Given the description of an element on the screen output the (x, y) to click on. 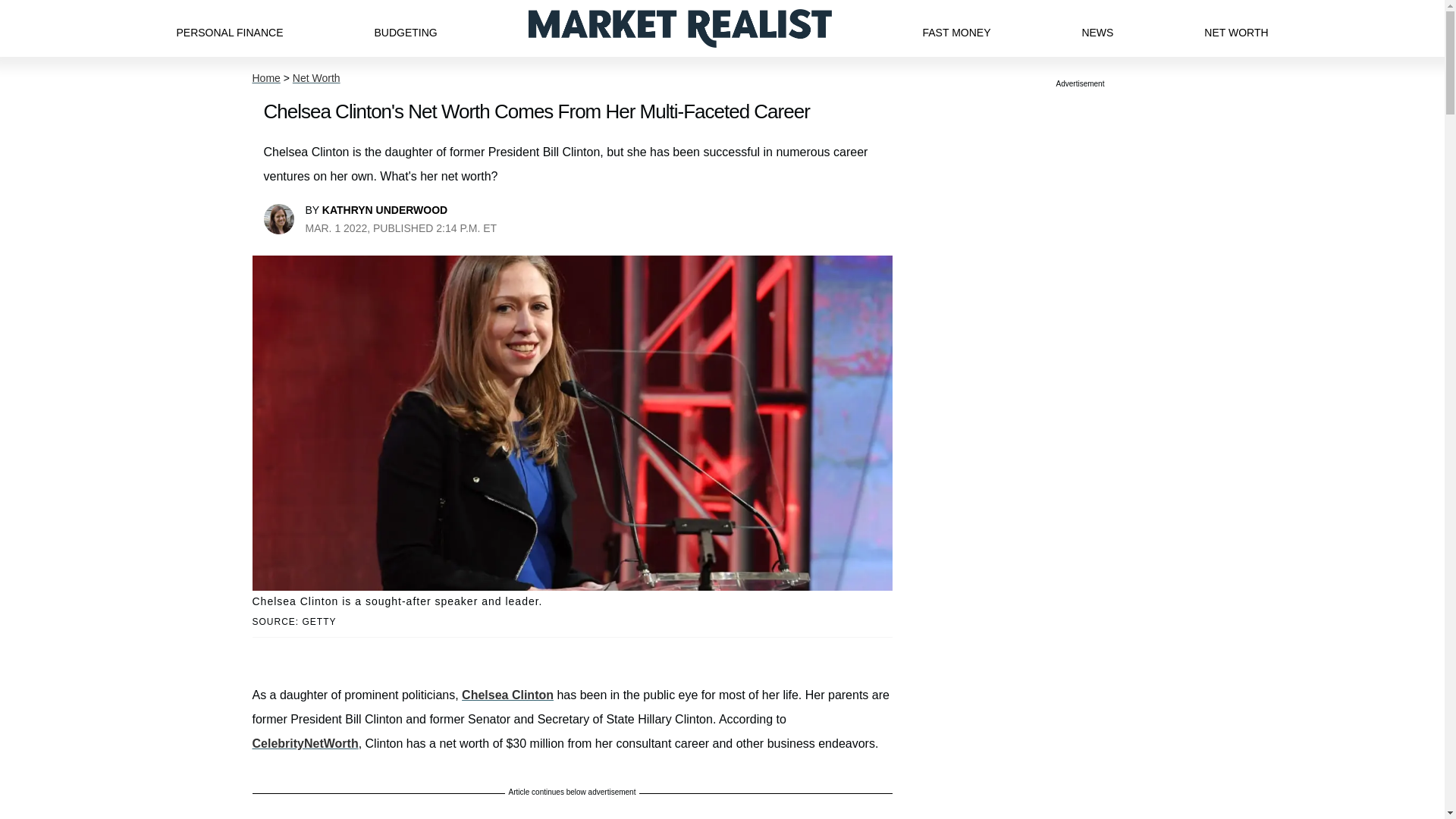
KATHRYN UNDERWOOD (383, 209)
Home (265, 78)
Chelsea Clinton (507, 694)
NEWS (1097, 27)
CelebrityNetWorth (304, 743)
NET WORTH (1236, 27)
PERSONAL FINANCE (229, 27)
BUDGETING (405, 27)
FAST MONEY (955, 27)
Net Worth (316, 78)
